Given the description of an element on the screen output the (x, y) to click on. 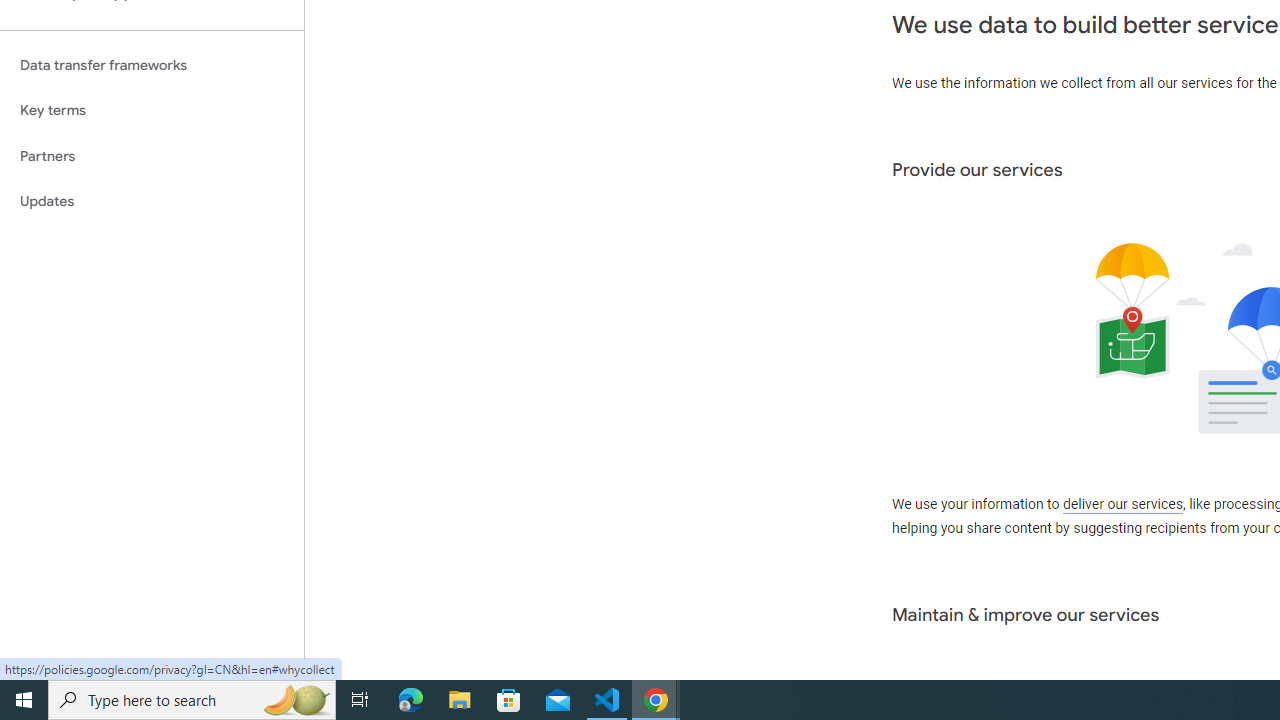
Partners (152, 156)
Data transfer frameworks (152, 65)
deliver our services (1122, 505)
